Given the description of an element on the screen output the (x, y) to click on. 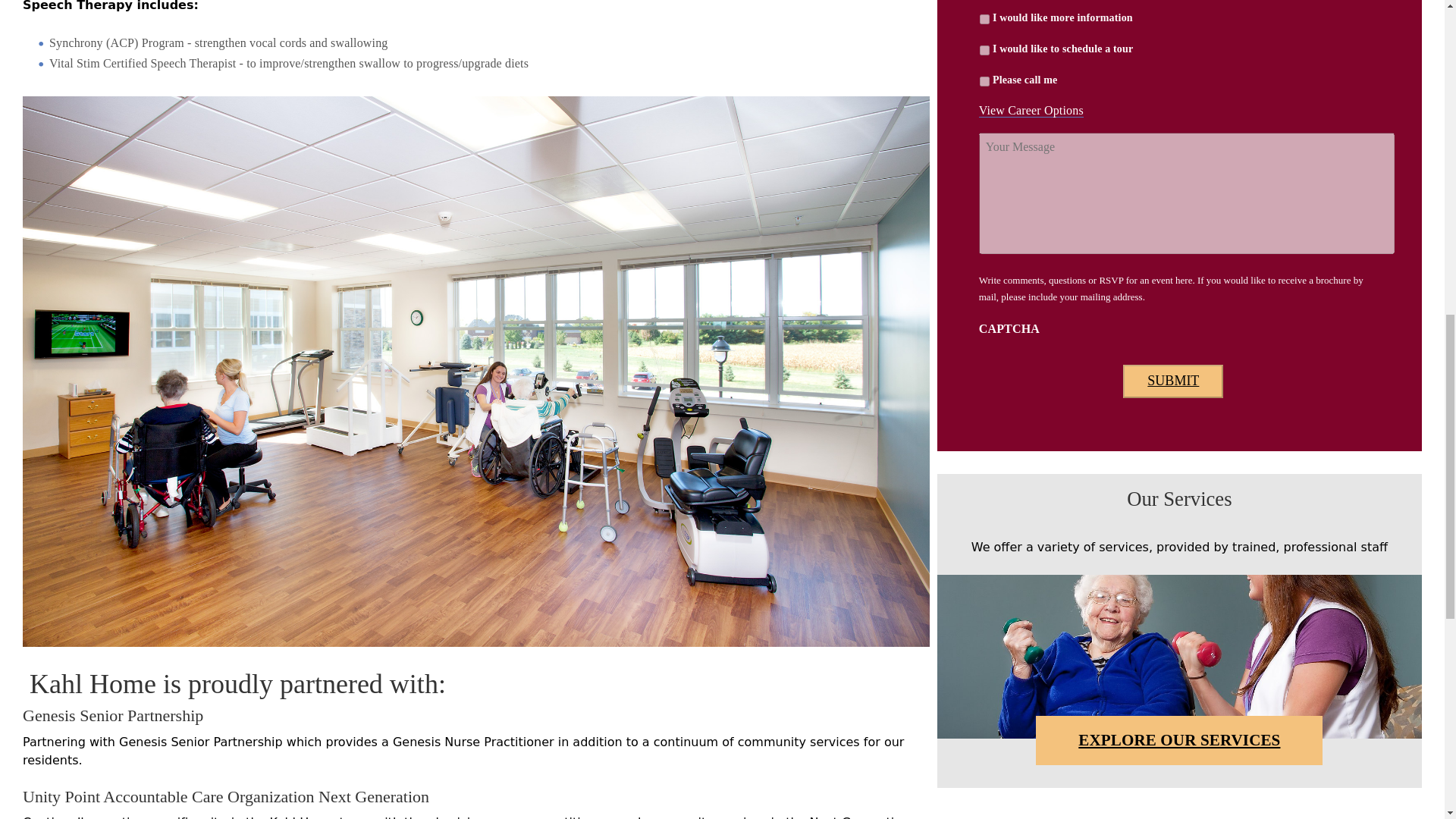
Submit (1172, 381)
I would like to schedule a tour (984, 50)
I would like more information (984, 19)
Please call me (984, 81)
